Given the description of an element on the screen output the (x, y) to click on. 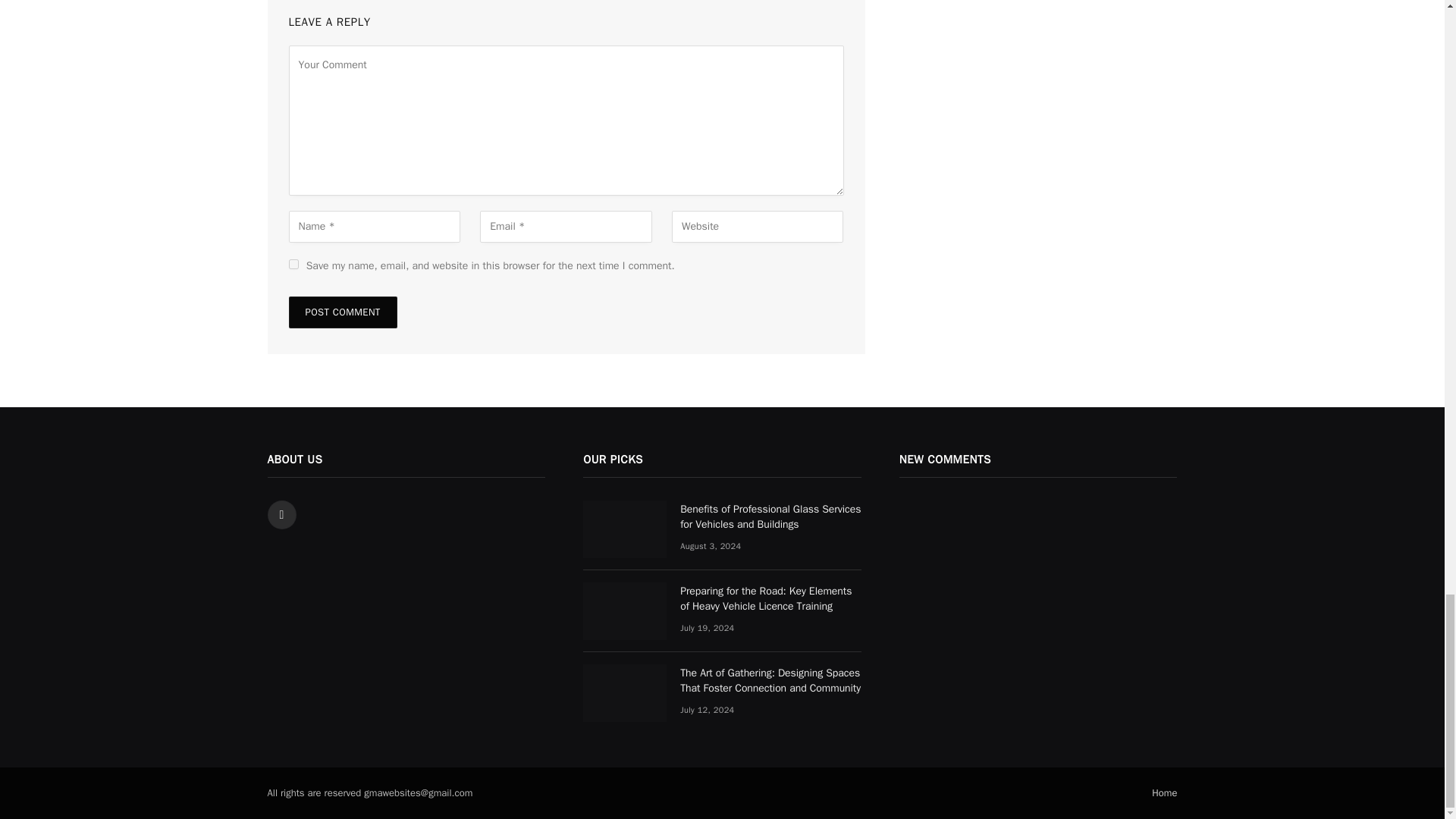
yes (293, 264)
Post Comment (342, 312)
